Given the description of an element on the screen output the (x, y) to click on. 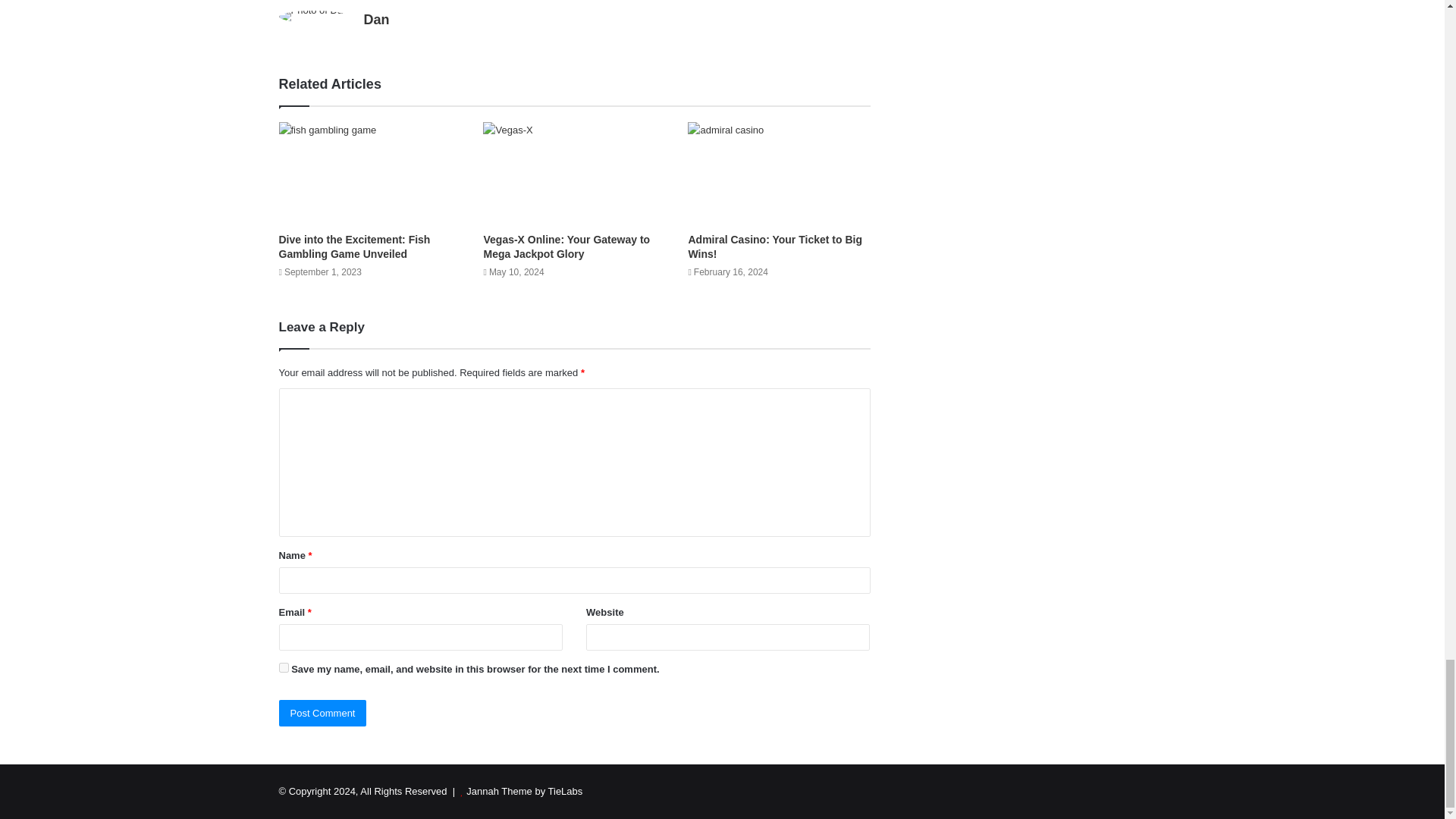
yes (283, 667)
Post Comment (322, 713)
